Given the description of an element on the screen output the (x, y) to click on. 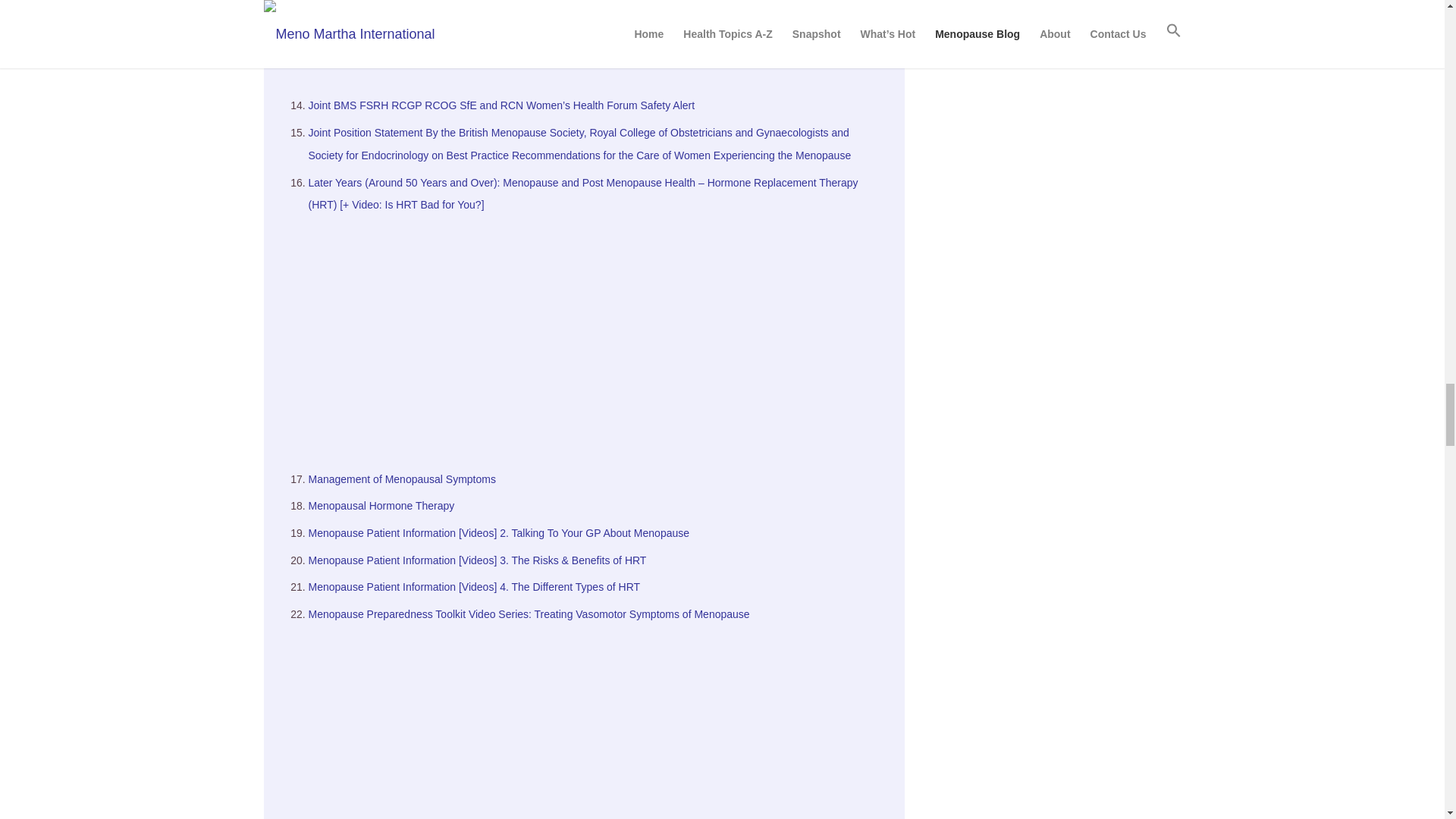
YouTube video player (597, 41)
YouTube video player (597, 722)
YouTube video player (597, 336)
